Given the description of an element on the screen output the (x, y) to click on. 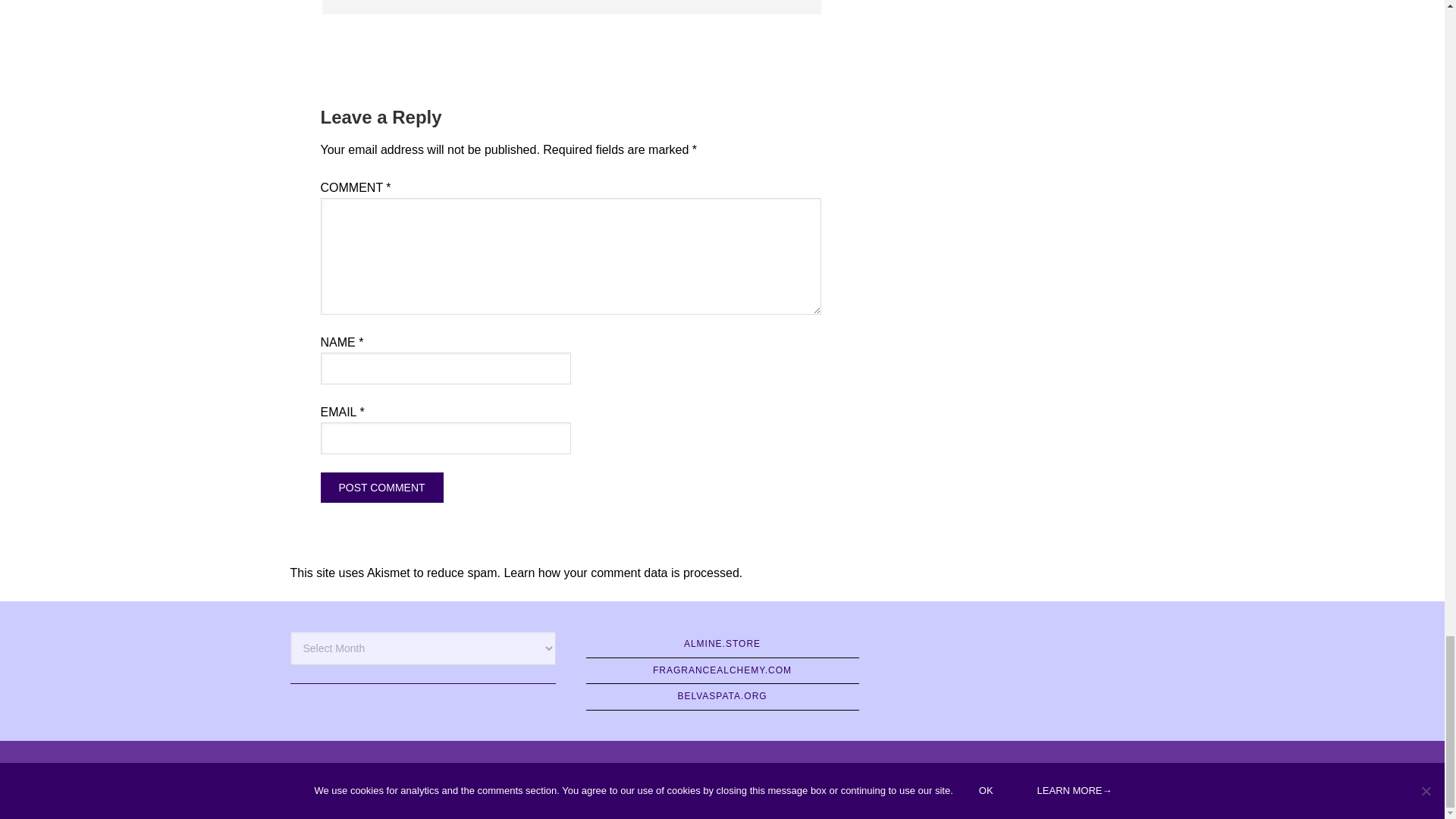
Post Comment (381, 487)
Post Comment (381, 487)
Learn how your comment data is processed (620, 572)
